Given the description of an element on the screen output the (x, y) to click on. 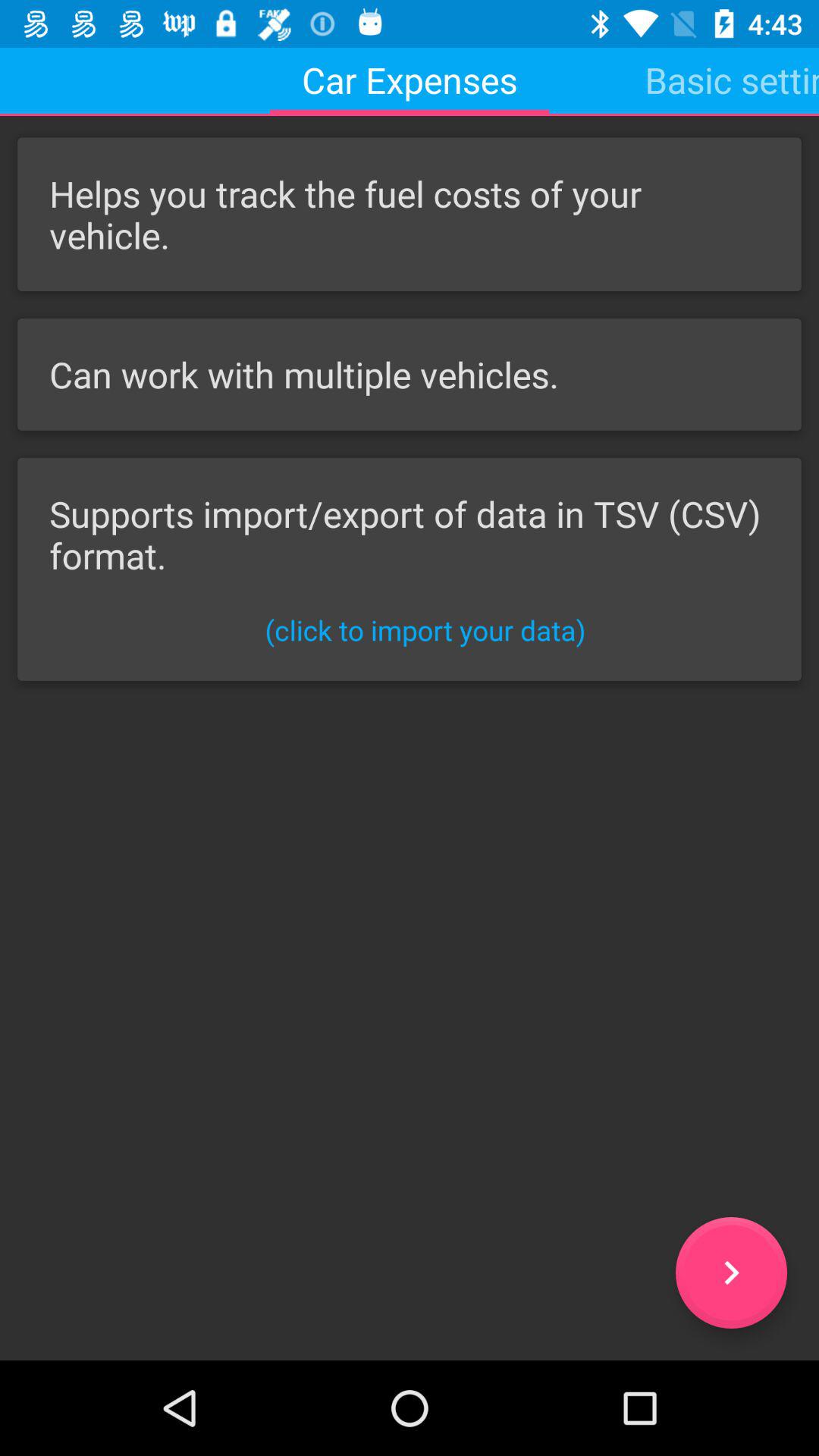
choose the icon to the right of the car expenses icon (731, 79)
